Given the description of an element on the screen output the (x, y) to click on. 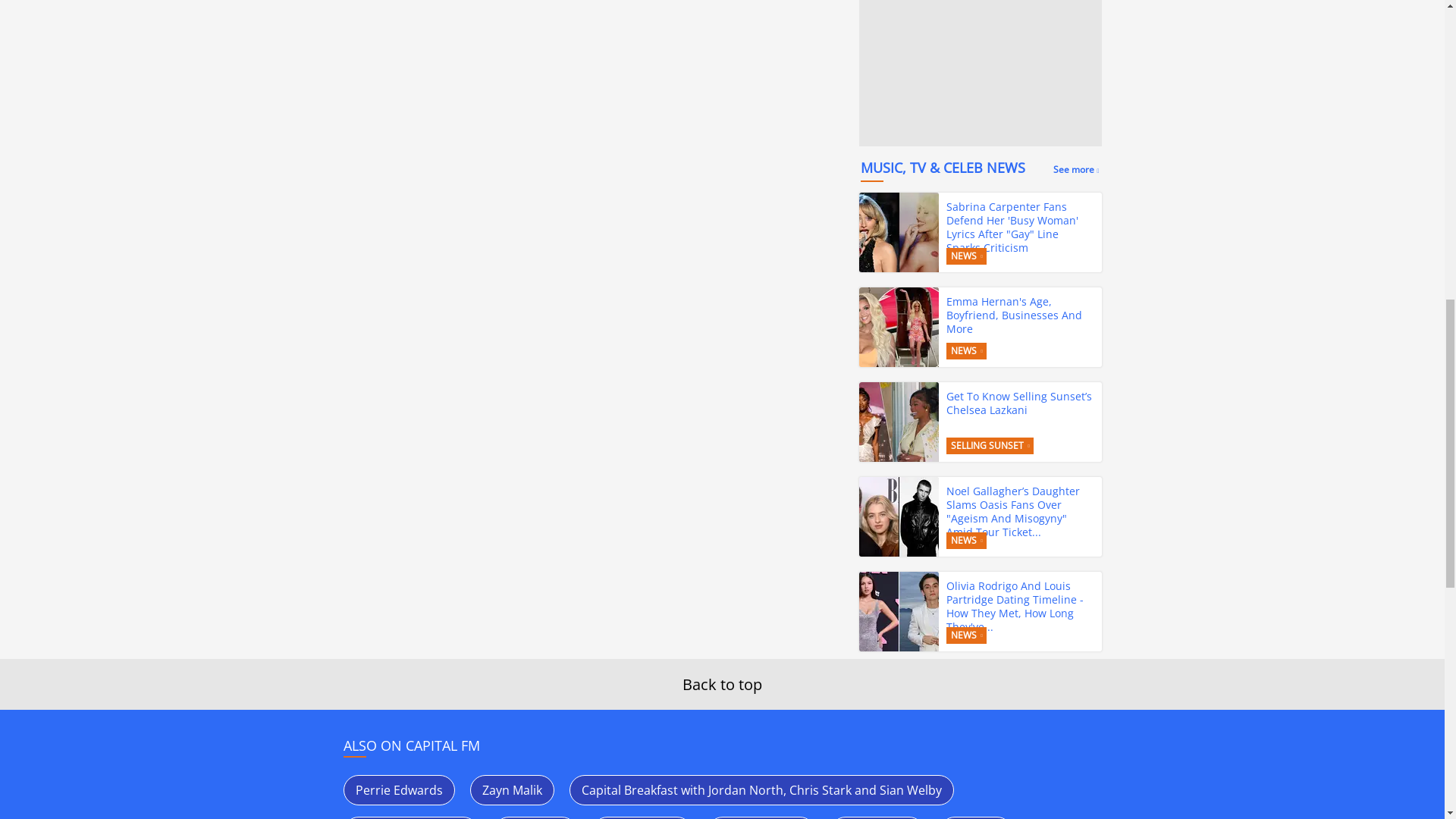
See more (1074, 169)
Back to top (721, 684)
NEWS (966, 256)
